Given the description of an element on the screen output the (x, y) to click on. 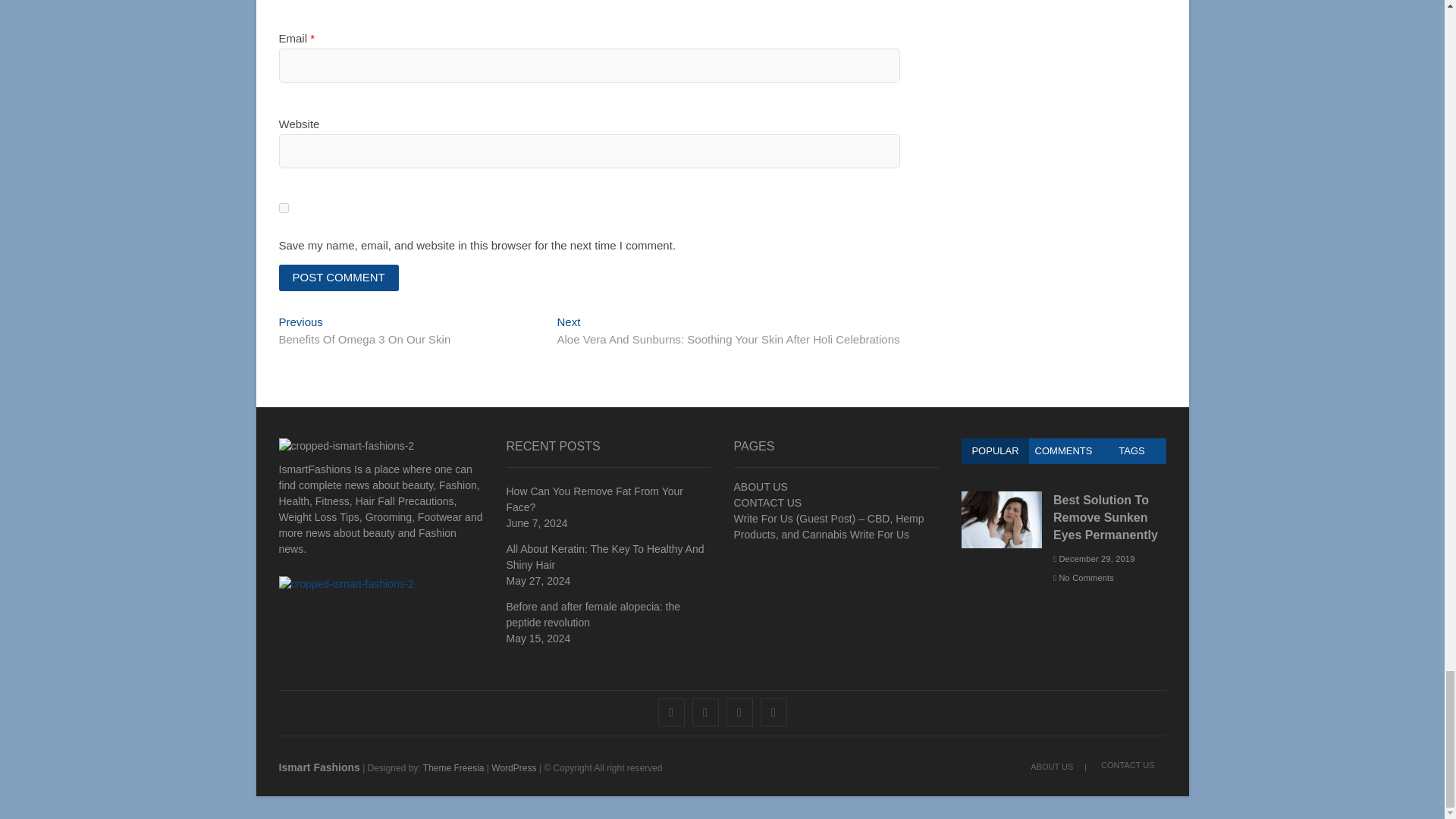
Post Comment (338, 277)
yes (283, 207)
